Given the description of an element on the screen output the (x, y) to click on. 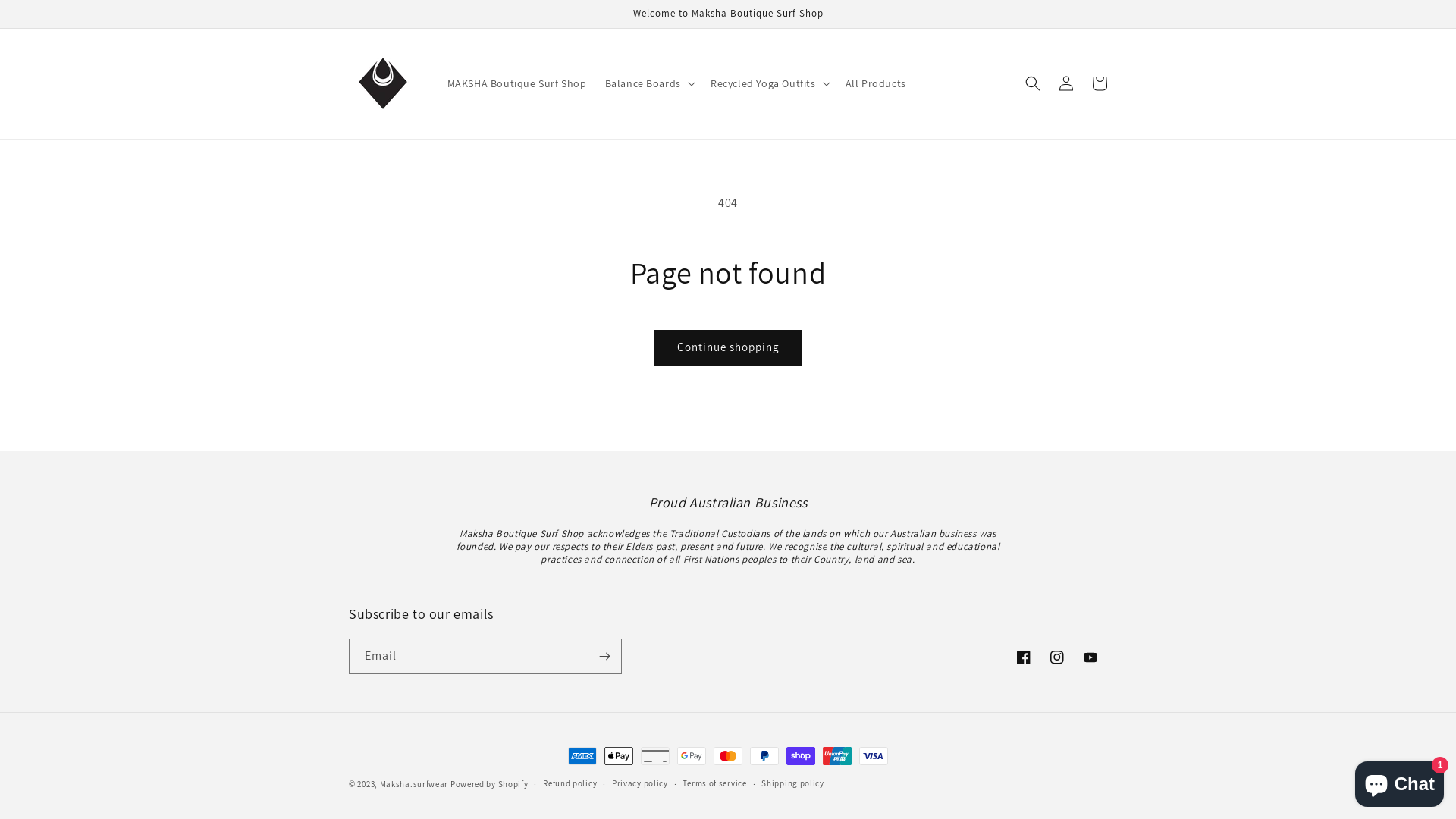
Instagram Element type: text (1056, 657)
Facebook Element type: text (1023, 657)
Continue shopping Element type: text (727, 347)
Powered by Shopify Element type: text (489, 783)
Shipping policy Element type: text (792, 783)
Cart Element type: text (1099, 83)
All Products Element type: text (875, 83)
Log in Element type: text (1065, 83)
MAKSHA Boutique Surf Shop Element type: text (517, 83)
Terms of service Element type: text (714, 783)
Shopify online store chat Element type: hover (1399, 780)
YouTube Element type: text (1090, 657)
Refund policy Element type: text (569, 783)
Maksha.surfwear Element type: text (413, 783)
Privacy policy Element type: text (639, 783)
